Given the description of an element on the screen output the (x, y) to click on. 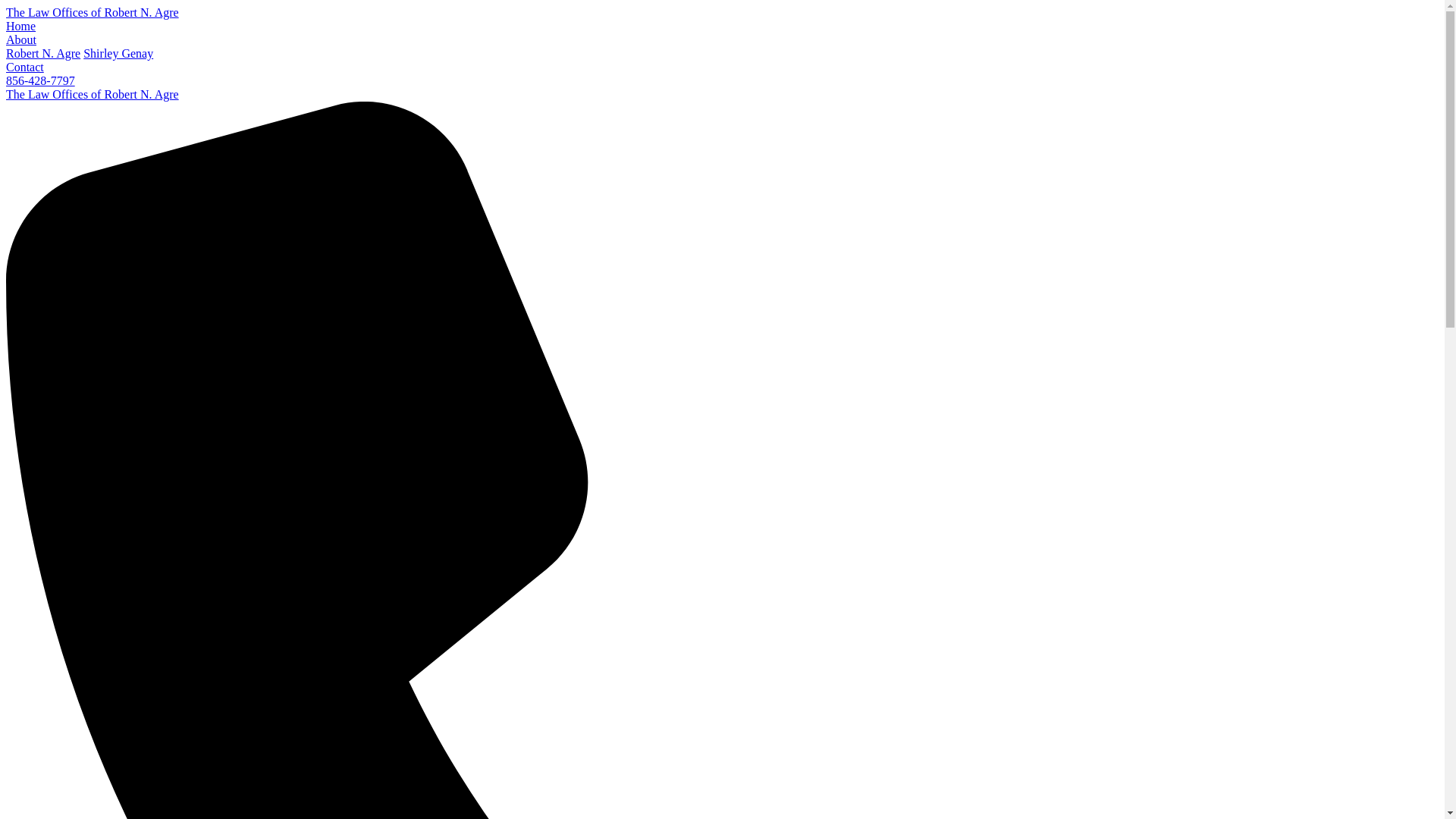
Contact (24, 66)
About (20, 39)
Home (19, 25)
Robert N. Agre (42, 52)
The Law Offices of Robert N. Agre (92, 93)
856-428-7797 (40, 80)
Shirley Genay (117, 52)
